Given the description of an element on the screen output the (x, y) to click on. 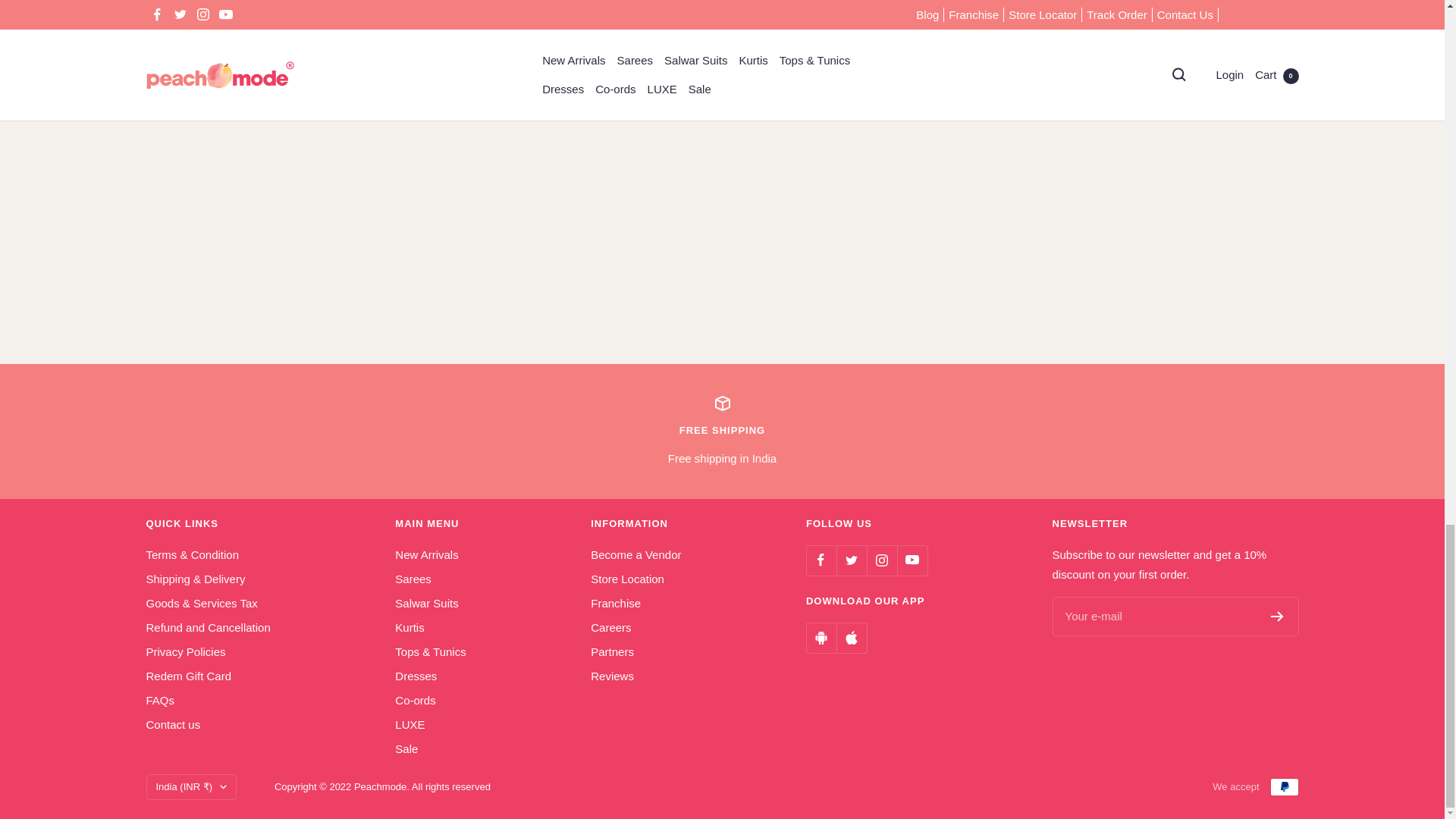
Register (1277, 615)
